Given the description of an element on the screen output the (x, y) to click on. 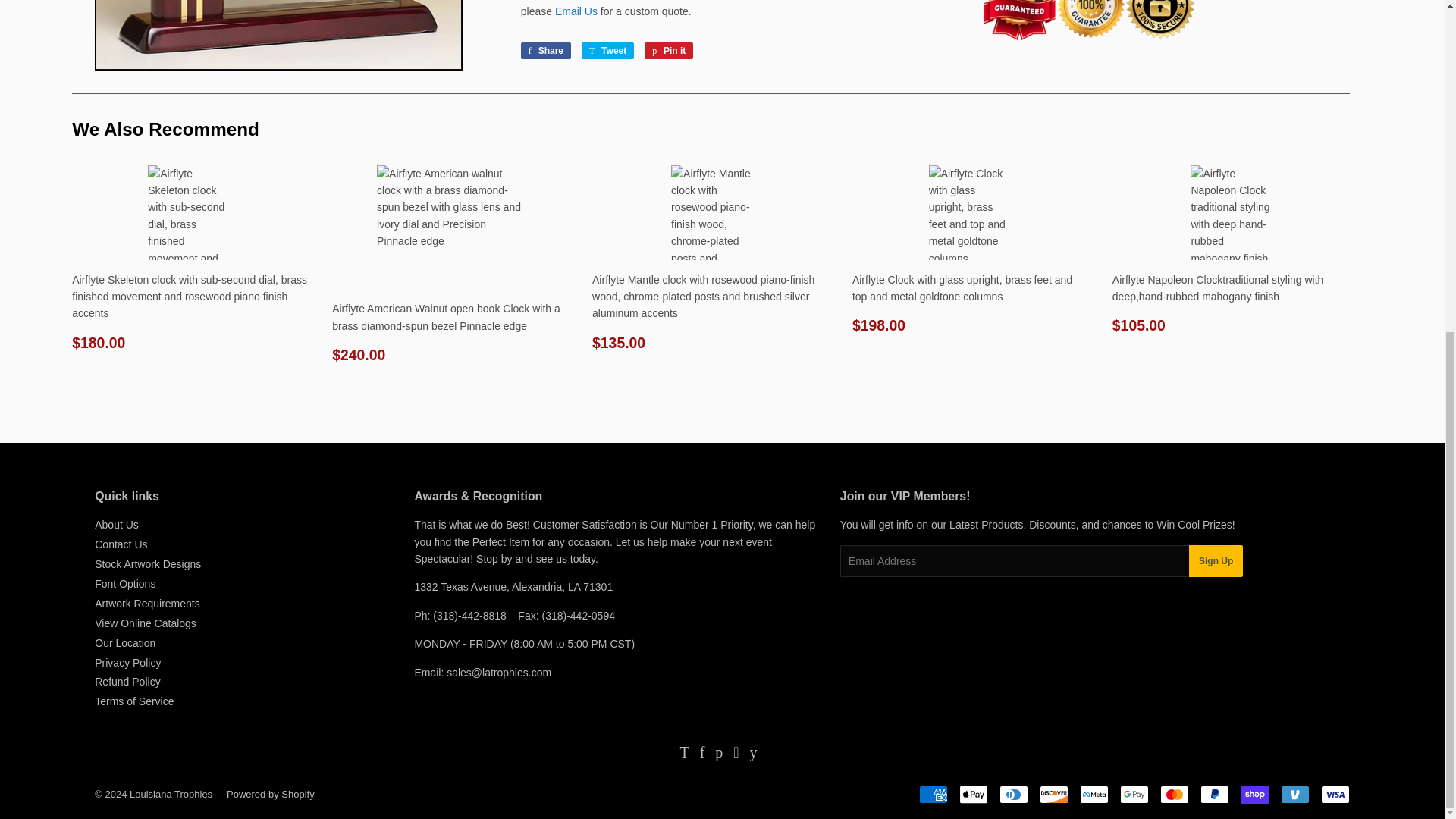
American Express (932, 794)
PayPal (1213, 794)
Meta Pay (1094, 794)
Email Us! (575, 10)
Shop Pay (1254, 794)
Visa (1334, 794)
Mastercard (1174, 794)
Diners Club (1012, 794)
Venmo (1294, 794)
Discover (1053, 794)
Apple Pay (973, 794)
tel:3184428818 (469, 615)
Share on Facebook (545, 50)
Pin on Pinterest (669, 50)
Tweet on Twitter (606, 50)
